Given the description of an element on the screen output the (x, y) to click on. 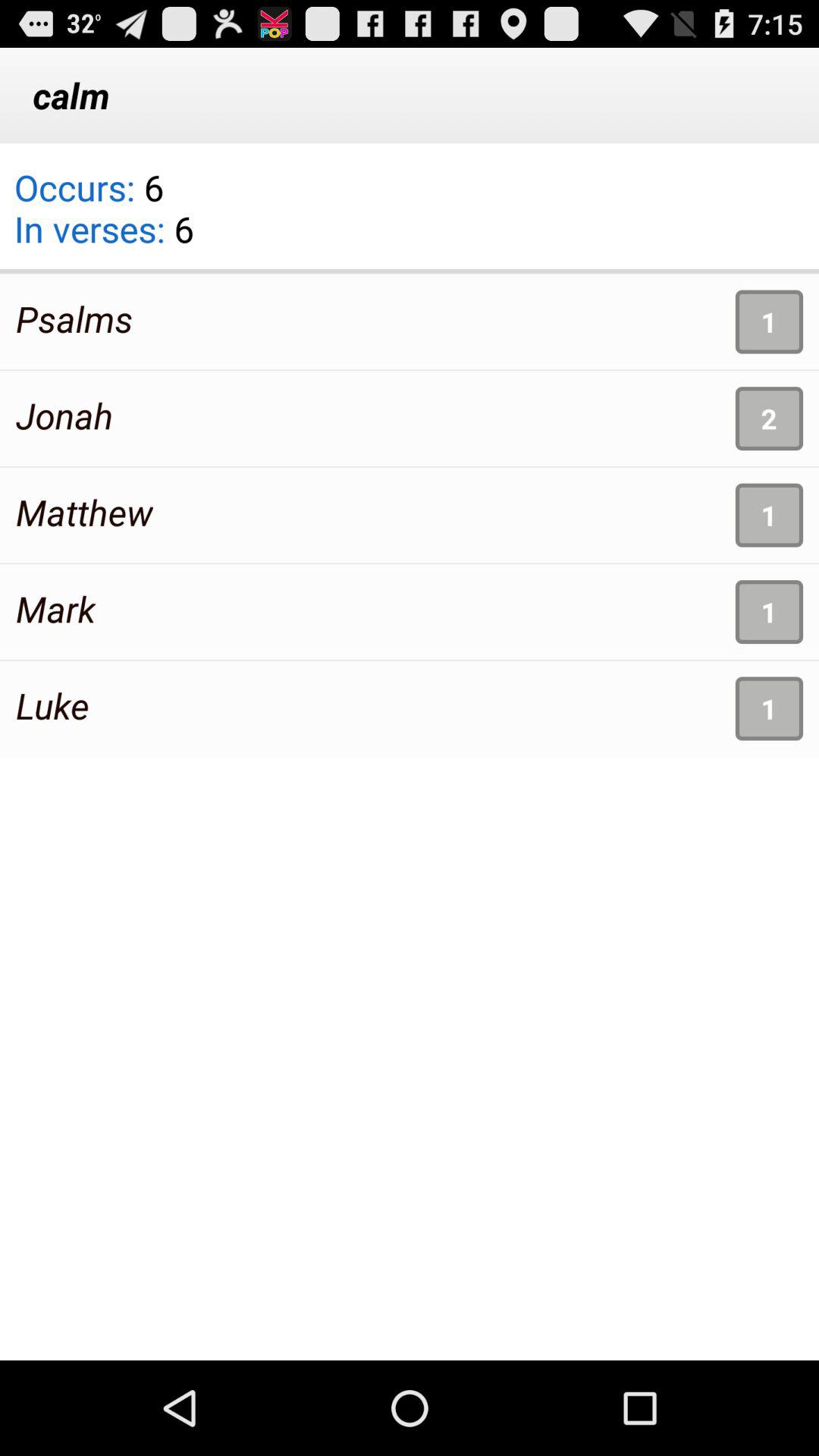
select app to the right of jonah app (769, 418)
